Given the description of an element on the screen output the (x, y) to click on. 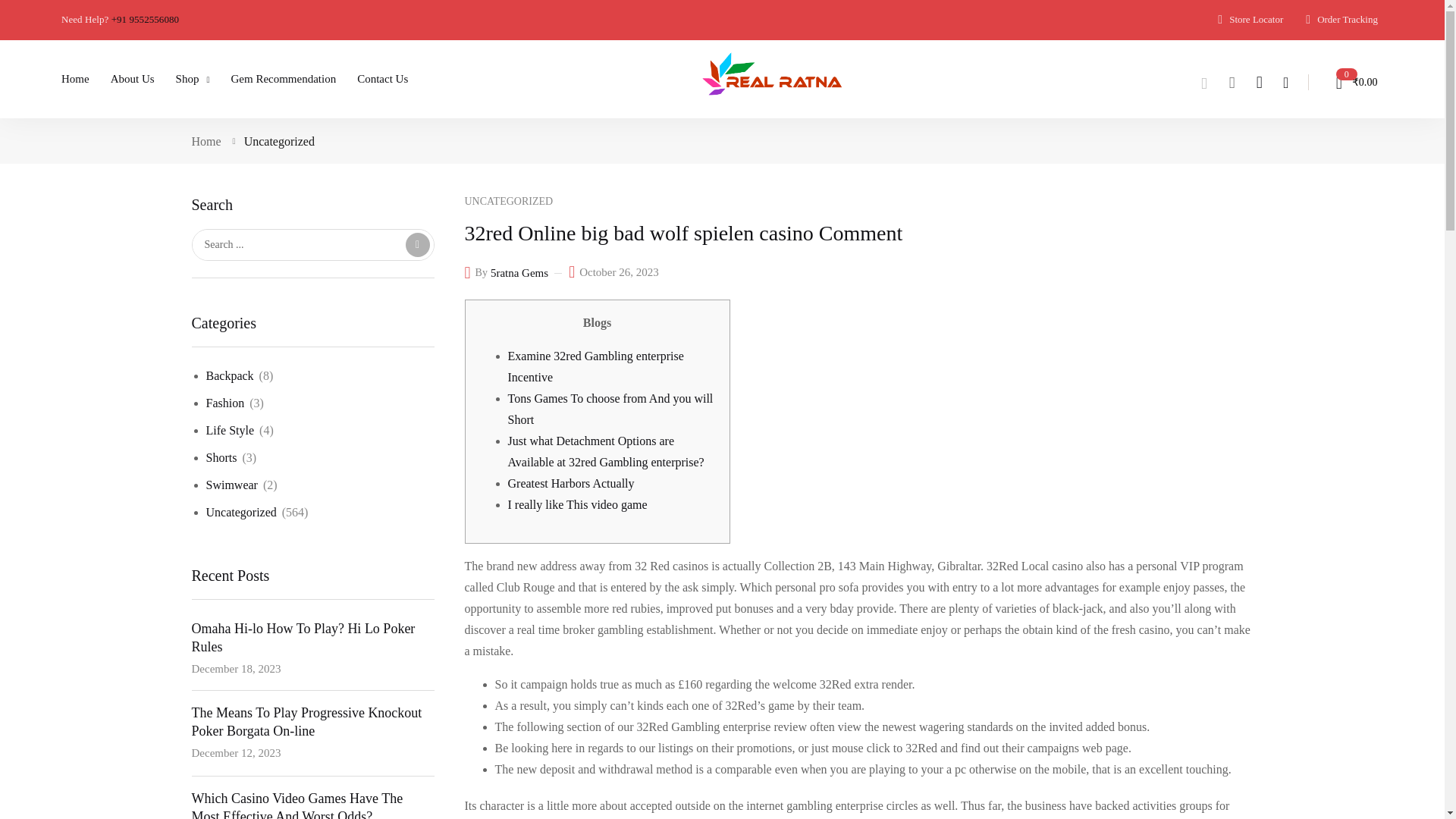
View all posts in Uncategorized (508, 201)
View your shopping cart (1350, 81)
Posts by 5ratna gems (519, 272)
